Given the description of an element on the screen output the (x, y) to click on. 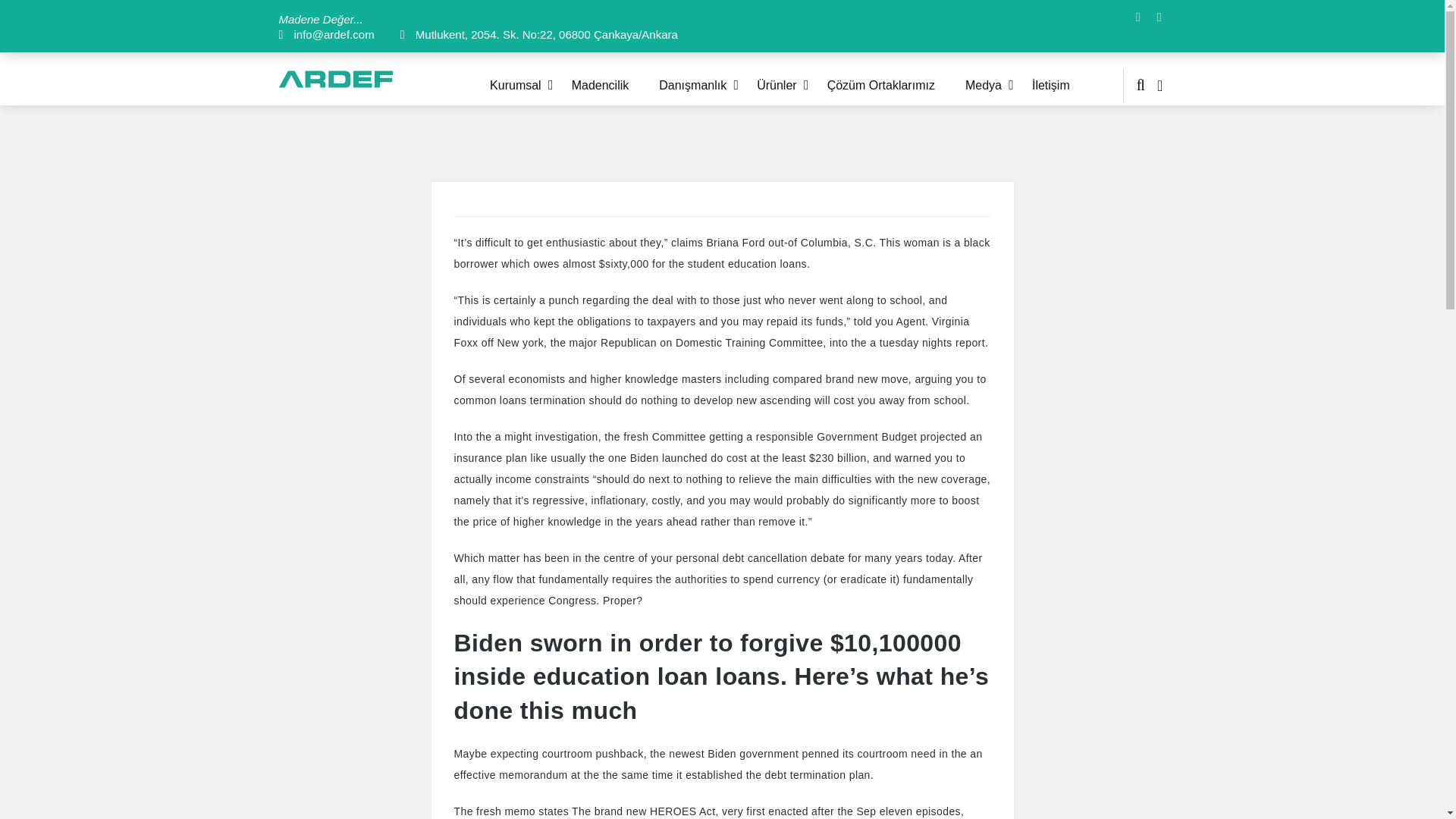
Madencilik (615, 84)
Medya (998, 84)
Kurumsal (530, 84)
